Given the description of an element on the screen output the (x, y) to click on. 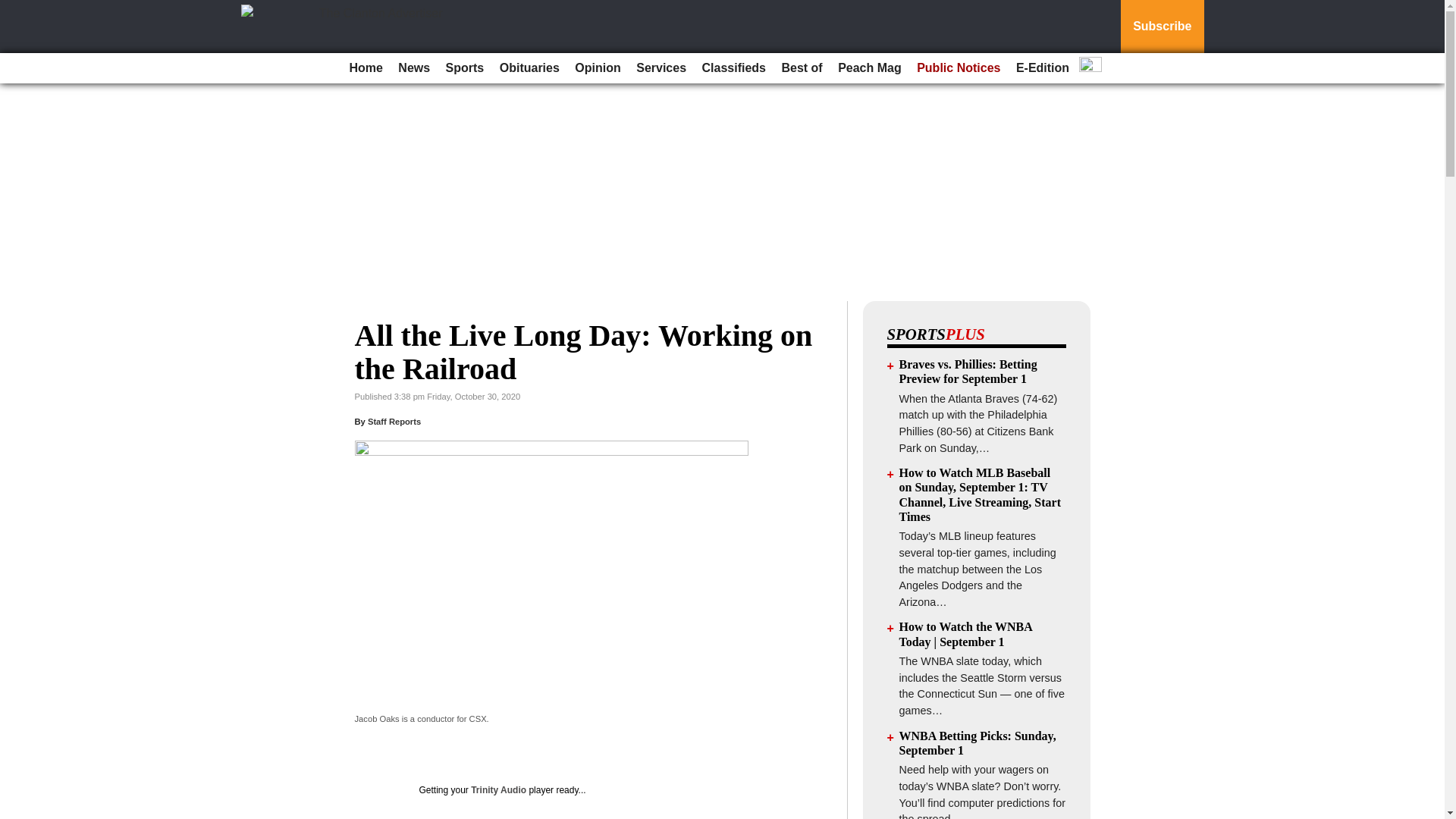
E-Edition (1042, 68)
Best of (801, 68)
Go (13, 9)
Services (661, 68)
Braves vs. Phillies: Betting Preview for September 1 (967, 370)
Peach Mag (869, 68)
Staff Reports (394, 420)
WNBA Betting Picks: Sunday, September 1 (978, 742)
Classifieds (733, 68)
